Given the description of an element on the screen output the (x, y) to click on. 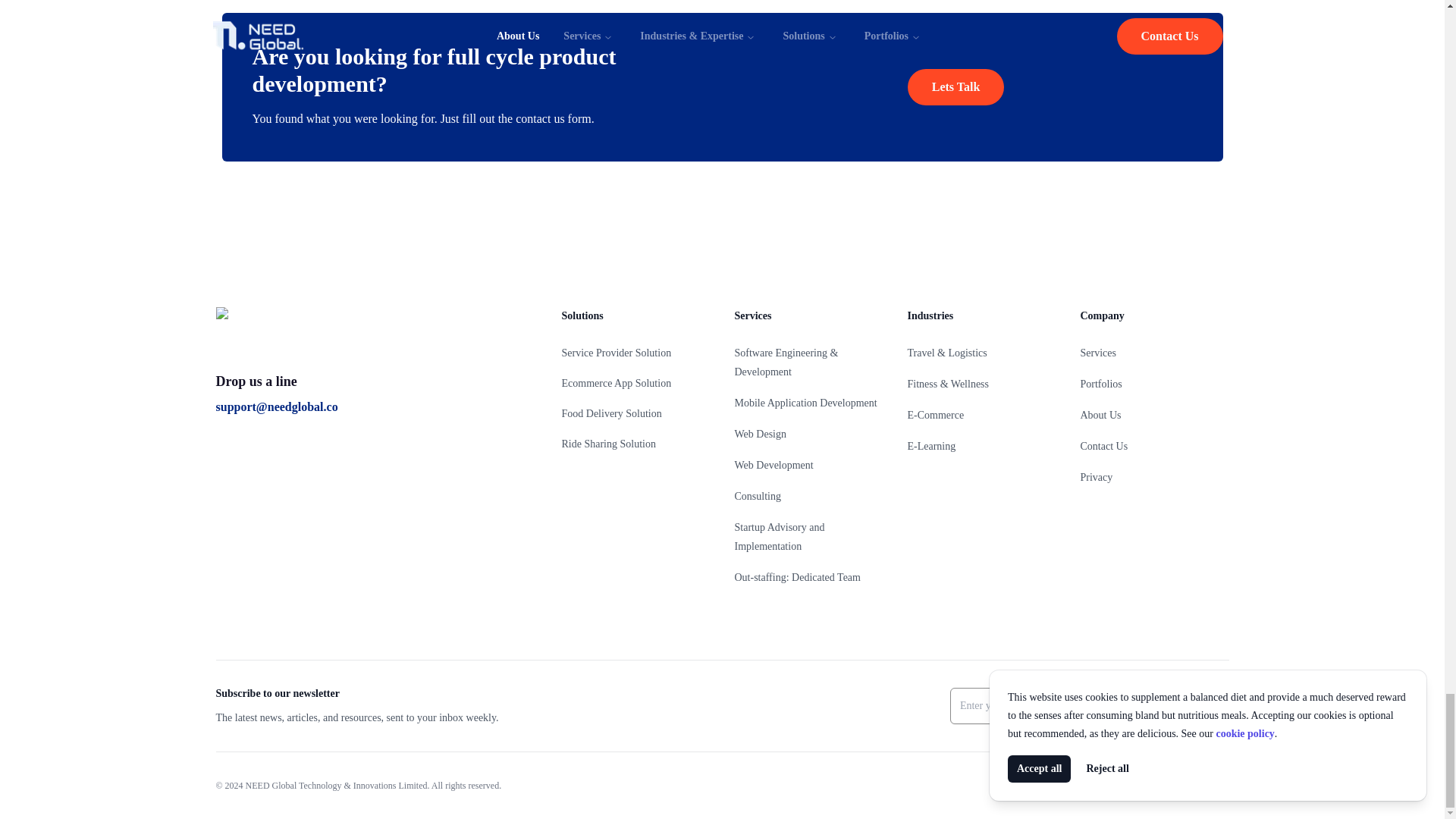
Service Provider Solution (615, 352)
Consulting (756, 496)
About Us (1100, 414)
Out-staffing: Dedicated Team (796, 577)
Web Development (772, 464)
Privacy (1096, 477)
Mobile Application Development (804, 402)
Food Delivery Solution (610, 413)
Contact Us (1103, 446)
Services (1097, 352)
